Given the description of an element on the screen output the (x, y) to click on. 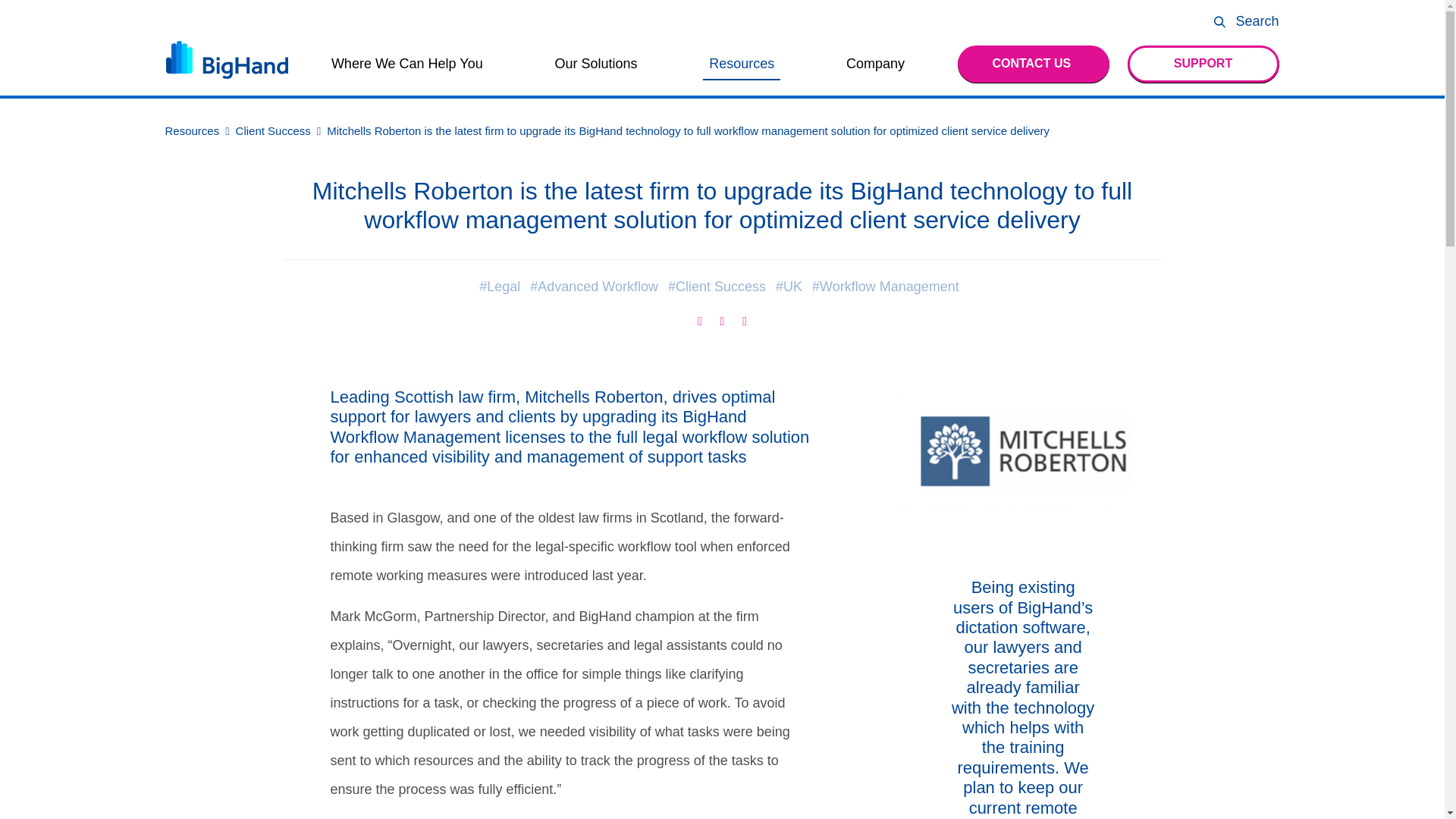
Search (1244, 20)
Our Solutions (595, 64)
Resources (741, 64)
Where We Can Help You (407, 64)
